Given the description of an element on the screen output the (x, y) to click on. 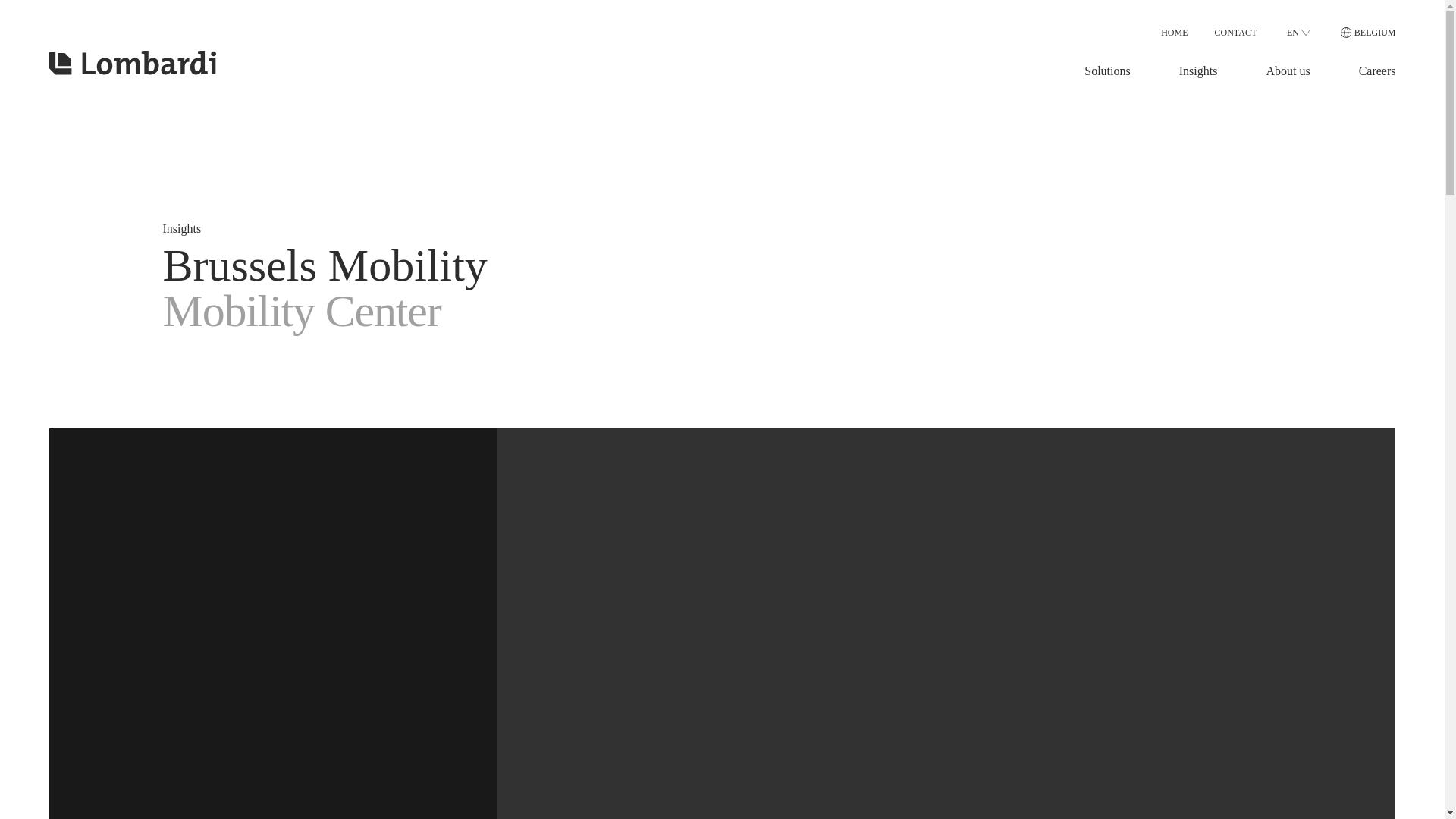
About us (1286, 70)
Careers (1377, 70)
EN (1298, 32)
Insights (1198, 70)
BELGIUM (1368, 31)
HOME (1174, 32)
CONTACT (1235, 32)
Solutions (1106, 70)
